Given the description of an element on the screen output the (x, y) to click on. 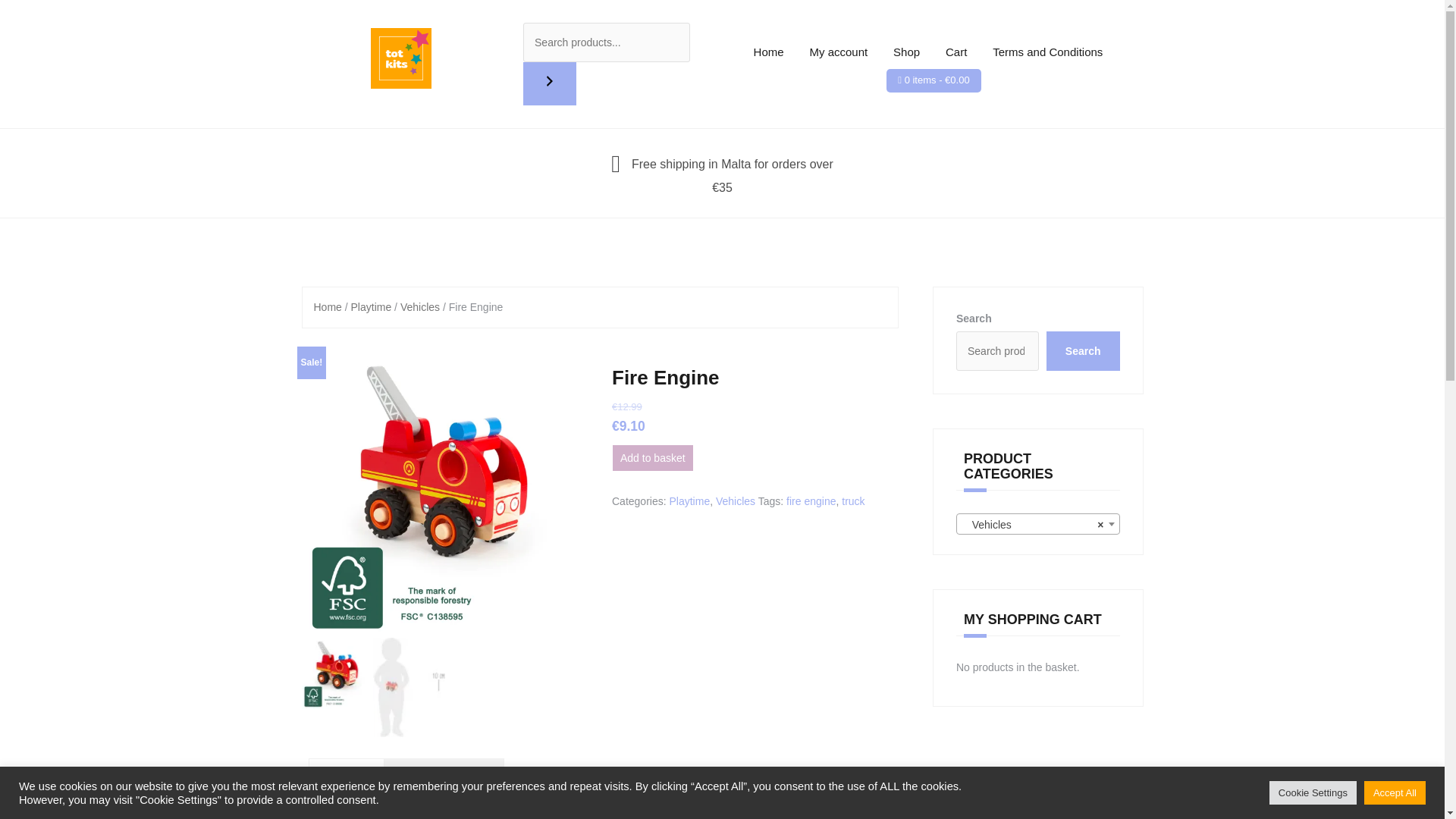
truck (852, 500)
View your shopping cart (936, 80)
Terms and Conditions (1047, 52)
Home (328, 306)
Cart (955, 52)
Shop (906, 52)
Playtime (689, 500)
Vehicles (419, 306)
Playtime (370, 306)
fire engine (810, 500)
